Given the description of an element on the screen output the (x, y) to click on. 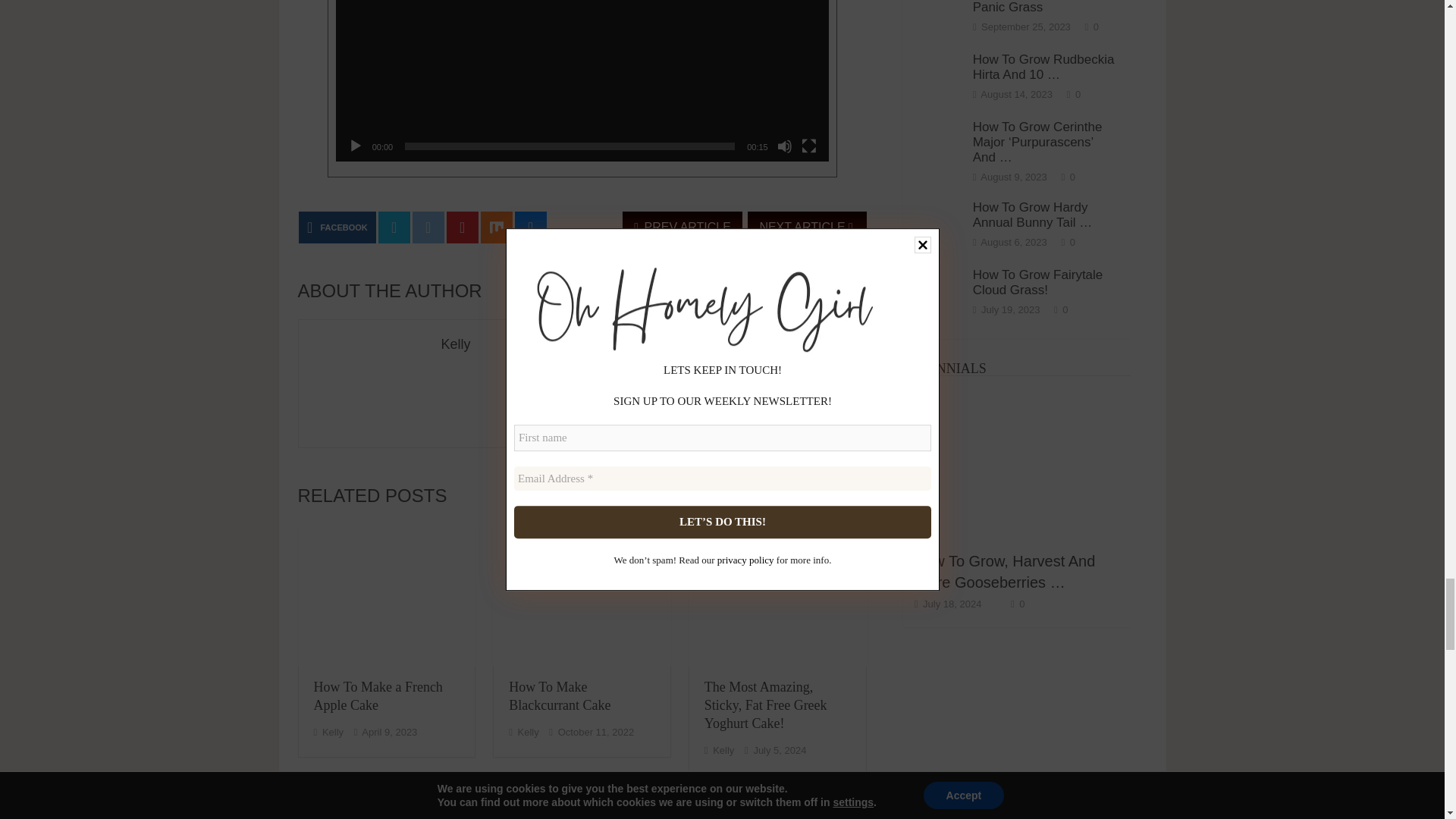
How To Make a French Apple Cake (378, 695)
How To Make Blackcurrant Cake (582, 595)
How To Make Blackcurrant Cake (559, 695)
How To Make a French Apple Cake (386, 595)
Fullscreen (809, 145)
Mute (784, 145)
Posts by Kelly (332, 731)
Play (354, 145)
